Given the description of an element on the screen output the (x, y) to click on. 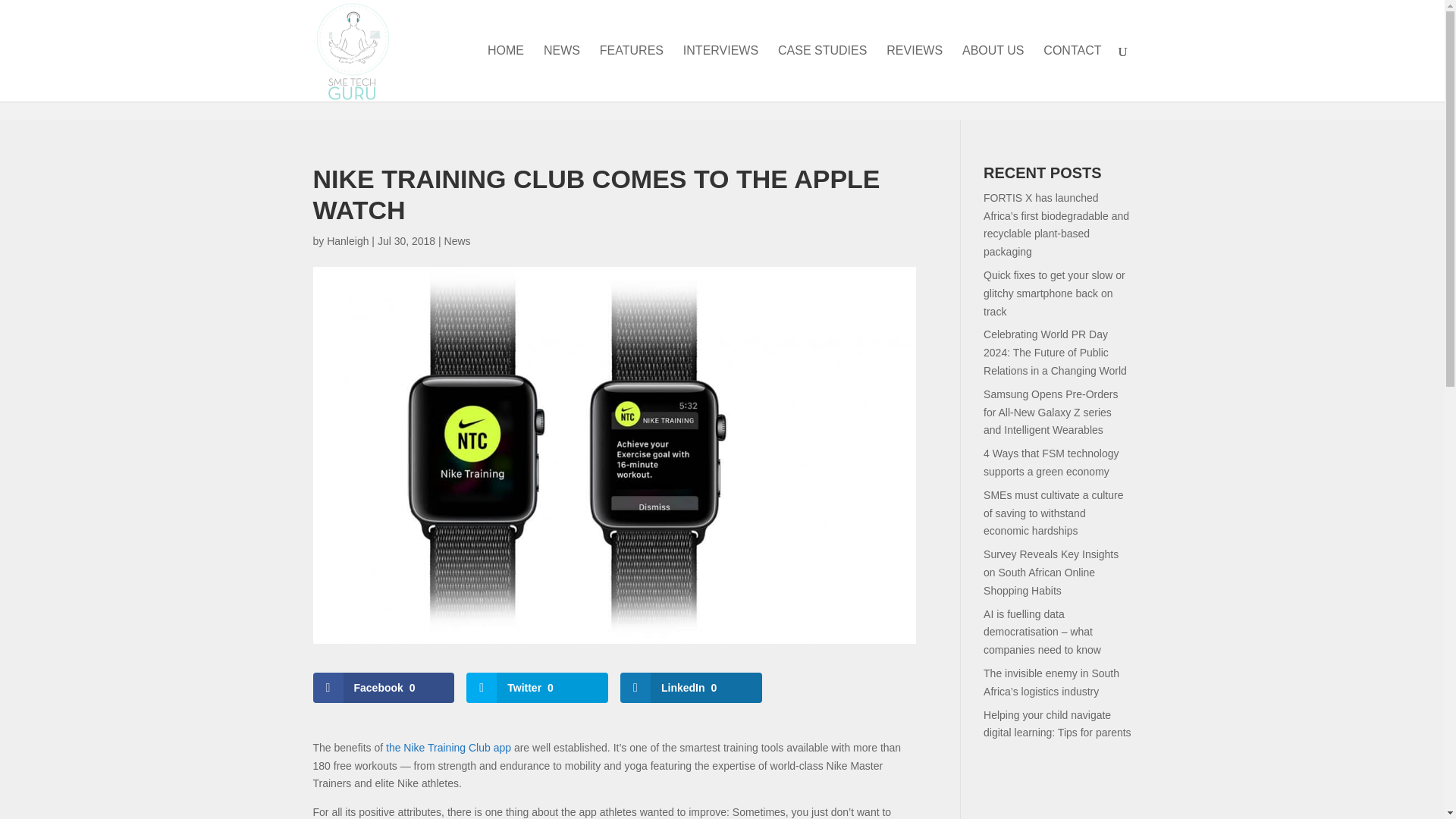
News (457, 241)
CONTACT (1071, 73)
4 Ways that FSM technology supports a green economy (1051, 462)
REVIEWS (914, 73)
NEWS (561, 73)
ABOUT US (993, 73)
Facebook 0 (383, 687)
HOME (505, 73)
Hanleigh (347, 241)
Twitter 0 (536, 687)
CASE STUDIES (821, 73)
